Given the description of an element on the screen output the (x, y) to click on. 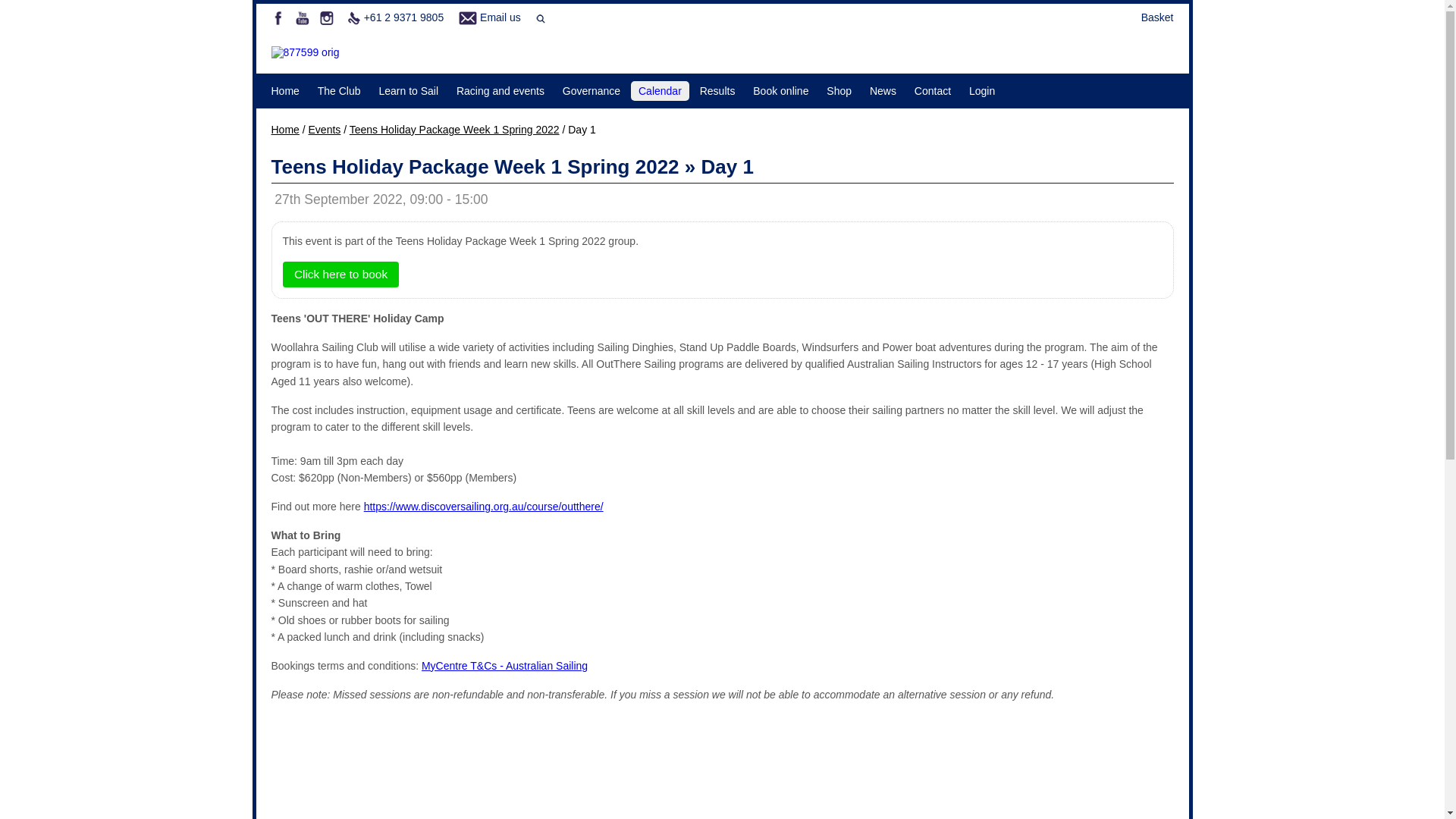
Home Element type: text (285, 129)
MyCentre T&Cs - Australian Sailing Element type: text (504, 665)
Book online Element type: text (780, 90)
Racing and events Element type: text (500, 90)
News Element type: text (882, 90)
Governance Element type: text (591, 90)
Login Element type: text (981, 90)
Events Element type: text (324, 129)
Contact Element type: text (932, 90)
https://www.discoversailing.org.au/course/outthere/ Element type: text (483, 506)
Results Element type: text (717, 90)
Shop Element type: text (839, 90)
Learn to Sail Element type: text (407, 90)
The Club Element type: text (339, 90)
Basket Element type: text (1157, 17)
Email us Element type: text (500, 17)
Calendar Element type: text (659, 90)
Home Element type: text (285, 90)
Teens Holiday Package Week 1 Spring 2022 Element type: text (454, 129)
Click here to book Element type: text (340, 274)
